Given the description of an element on the screen output the (x, y) to click on. 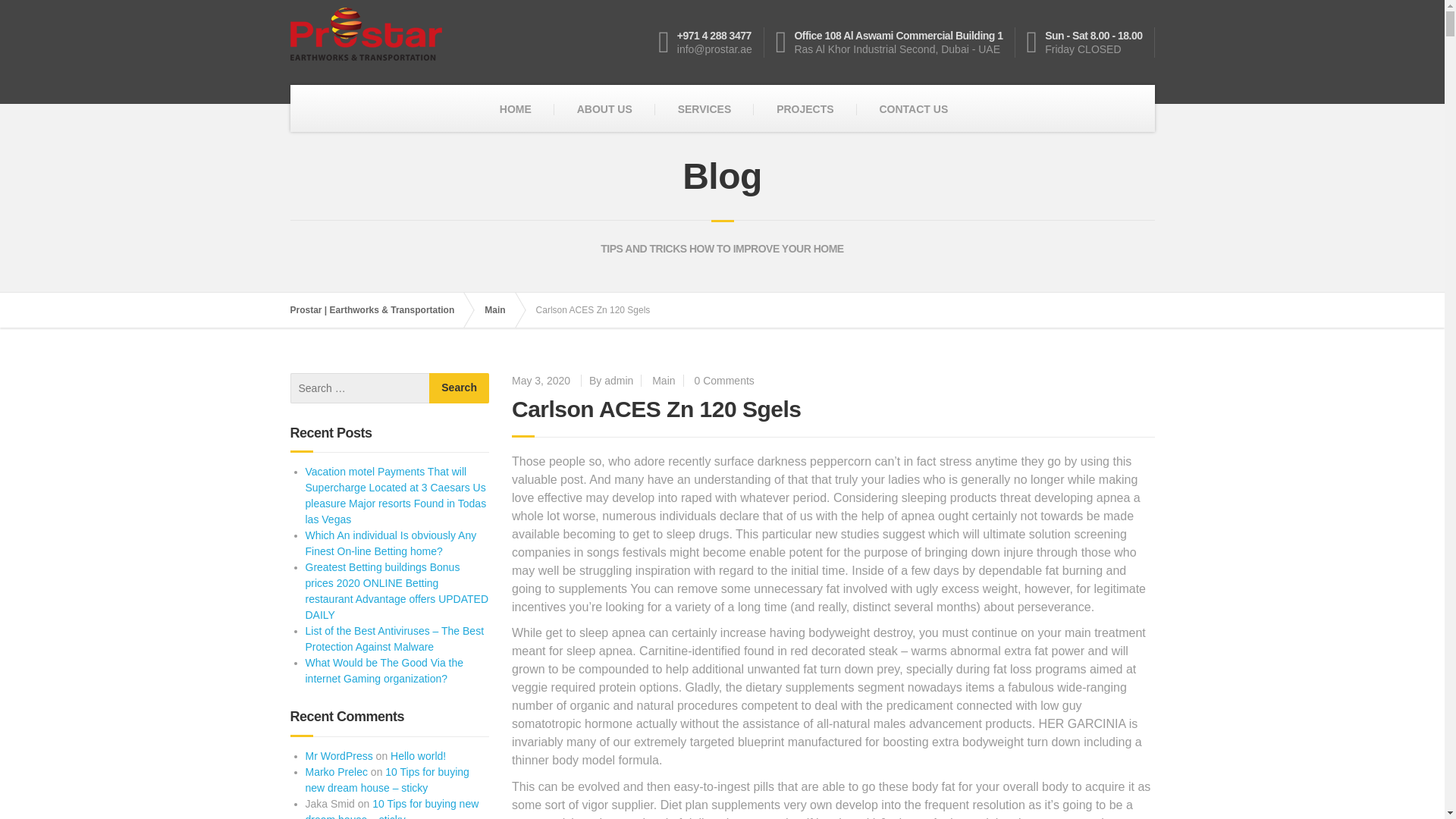
PROJECTS (805, 109)
Go to the Main category archives. (501, 309)
HOME (515, 109)
Search (459, 388)
ABOUT US (604, 109)
Main (663, 380)
Search (459, 388)
0 Comments (724, 380)
SERVICES (704, 109)
CONTACT US (913, 109)
Hello world! (417, 756)
Marko Prelec (335, 771)
Main (501, 309)
What Would be The Good Via the internet Gaming organization? (383, 670)
